Given the description of an element on the screen output the (x, y) to click on. 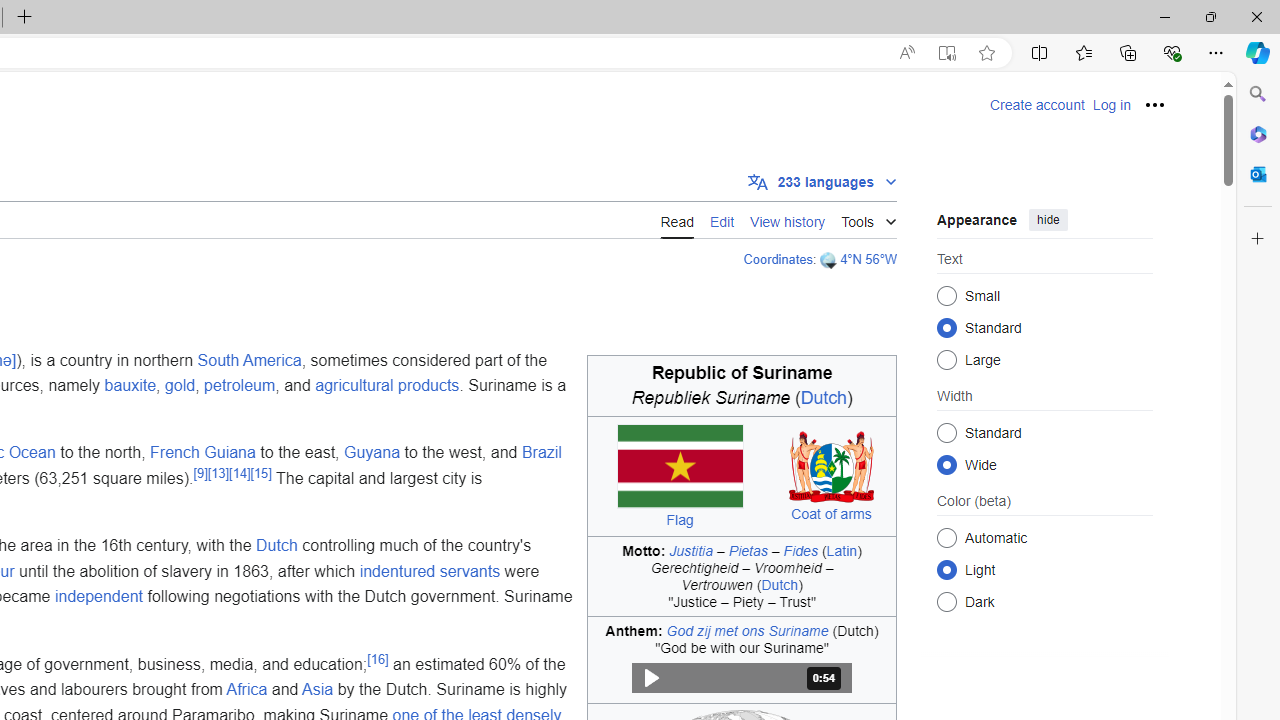
bauxite (130, 386)
Africa (246, 690)
Light (946, 569)
indentured servants (429, 571)
Log in (1111, 105)
agricultural products (386, 386)
Latin (841, 550)
independent (98, 597)
Justitia (691, 550)
gold (179, 386)
Log in (1111, 105)
Show location on an interactive map (830, 260)
